Given the description of an element on the screen output the (x, y) to click on. 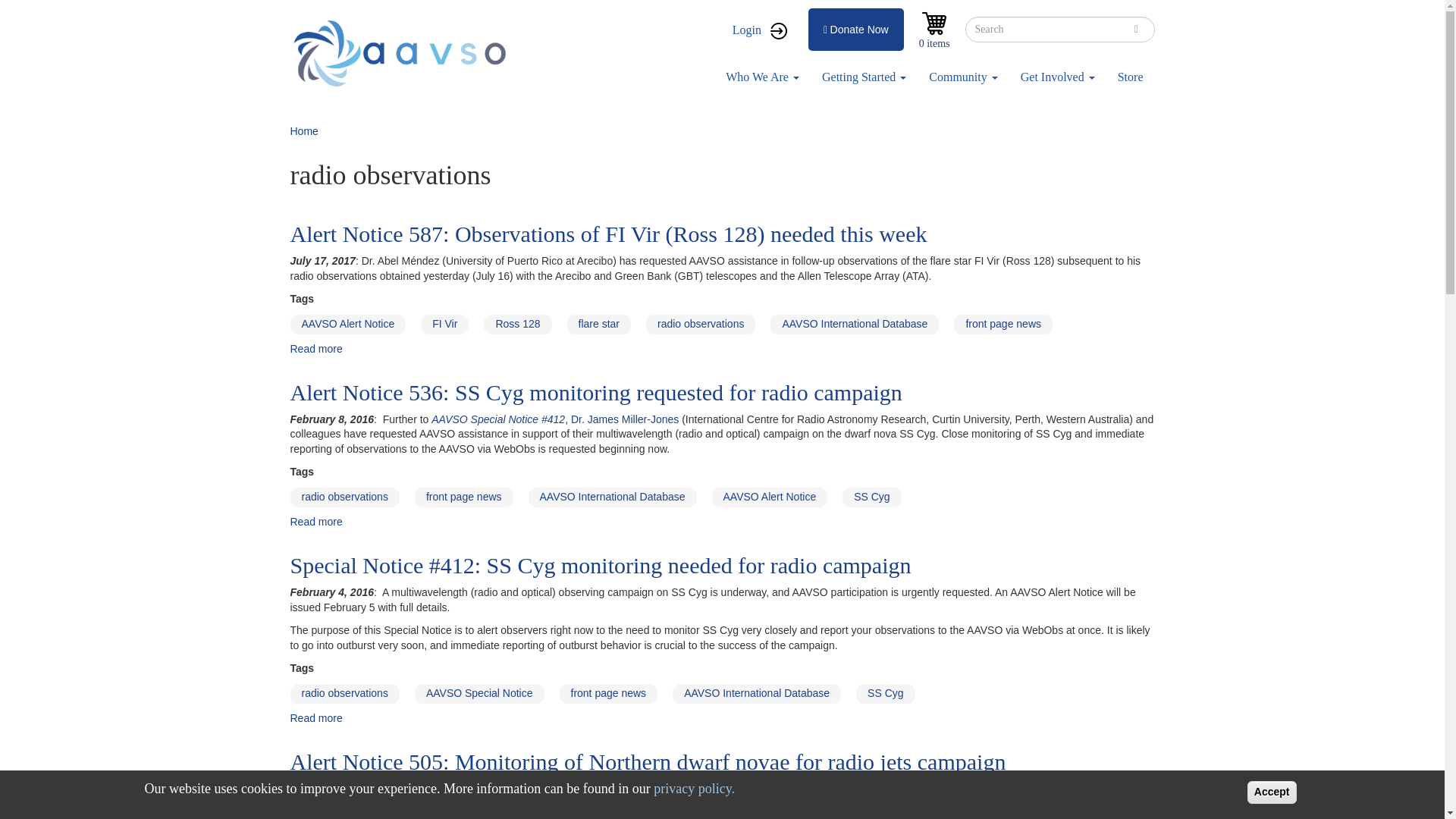
AAVSO Alert Notice (347, 323)
Community (963, 77)
Getting Started (863, 77)
Login (758, 30)
Get Involved (1057, 77)
Home (402, 53)
 Donate Now (856, 29)
Store (1130, 77)
Home (303, 131)
